Given the description of an element on the screen output the (x, y) to click on. 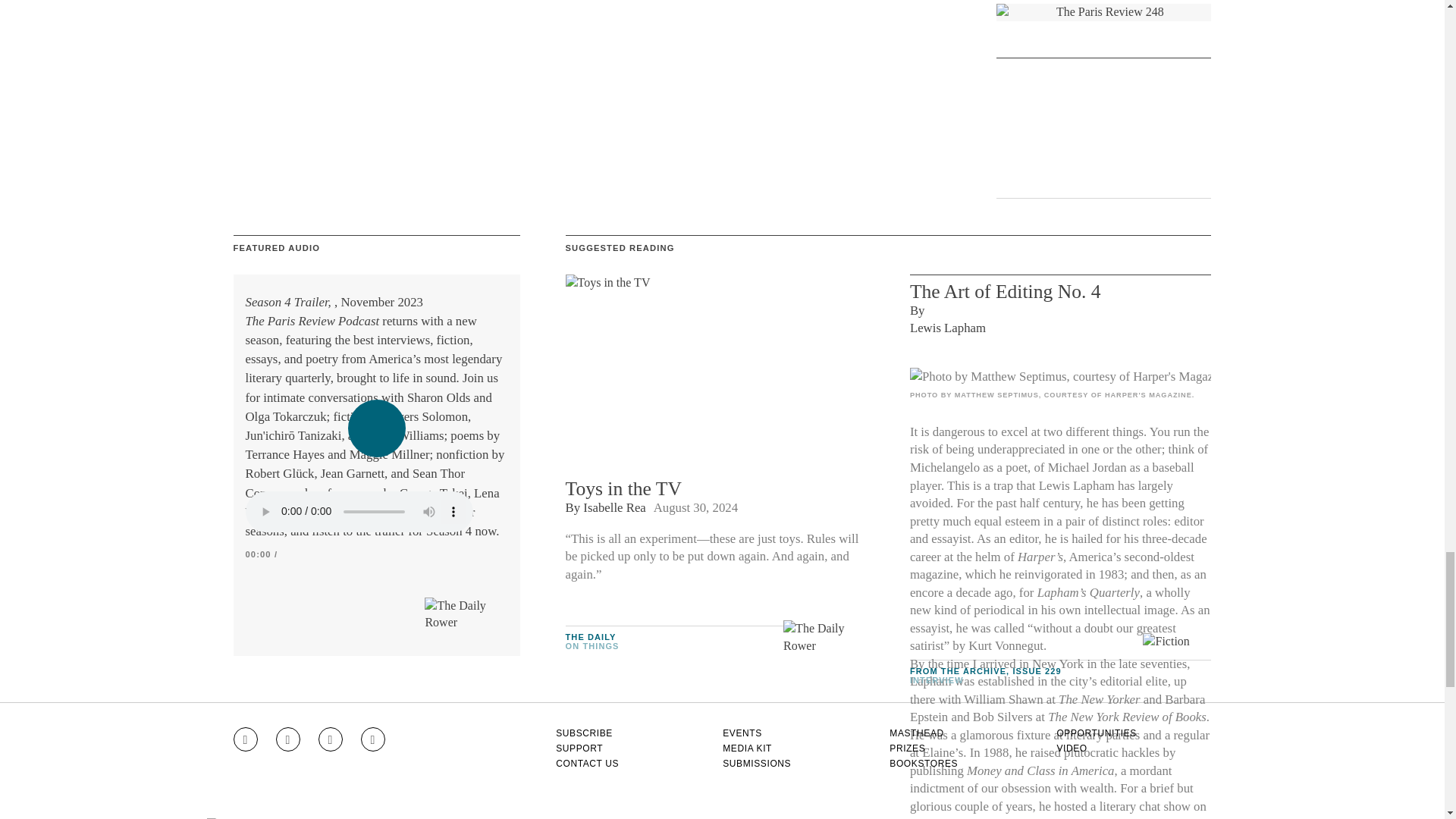
Go to Twitter feed (330, 739)
Go to Facebook page (287, 739)
Go to RSS feed (373, 739)
Go to Instagram feed (244, 739)
undefined (1060, 376)
